Given the description of an element on the screen output the (x, y) to click on. 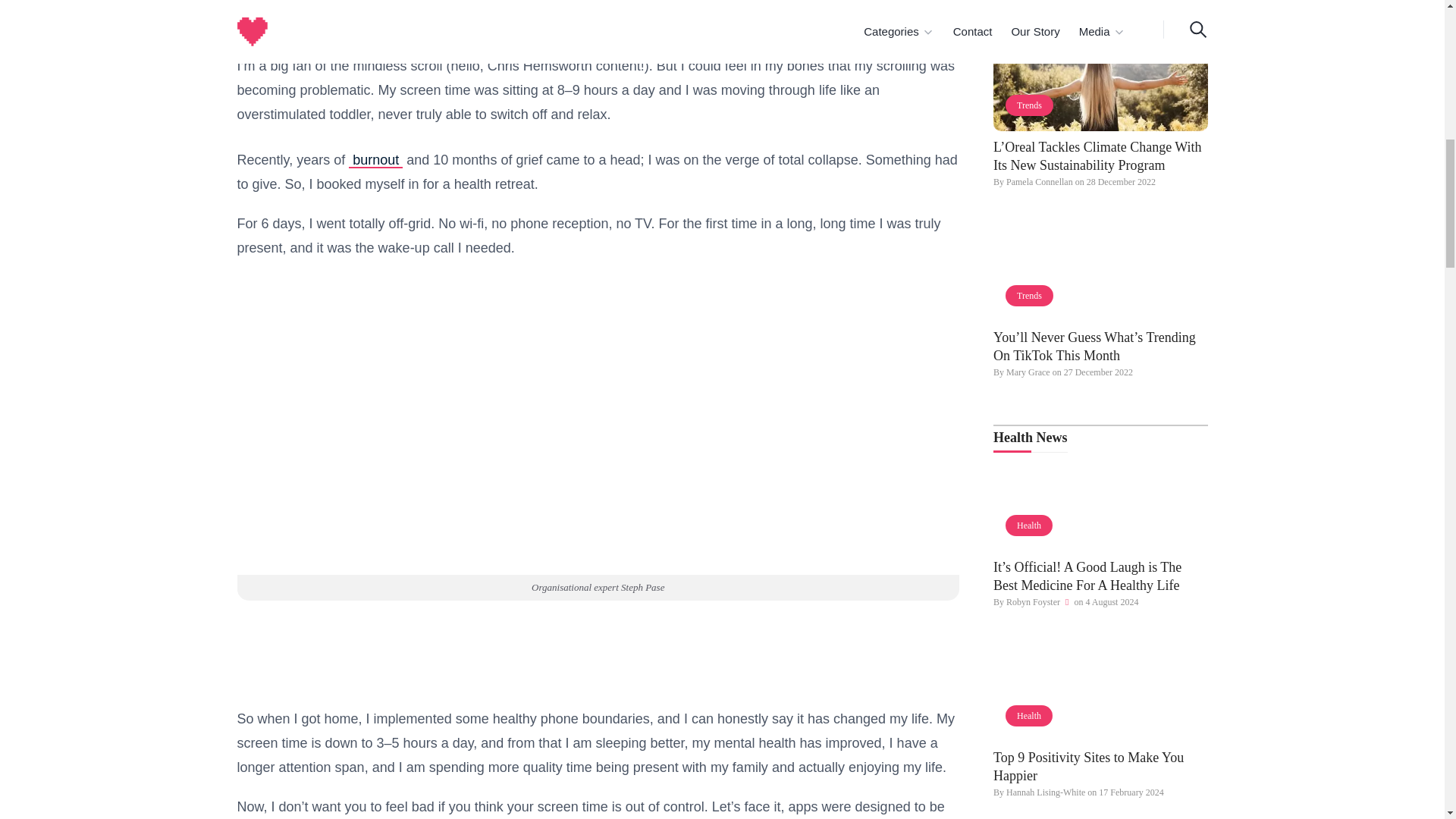
Advertisement (597, 16)
smiling-old-man-in-monochrome (1100, 501)
burnout (376, 159)
TikTok (1100, 271)
woman in field (1100, 81)
